Given the description of an element on the screen output the (x, y) to click on. 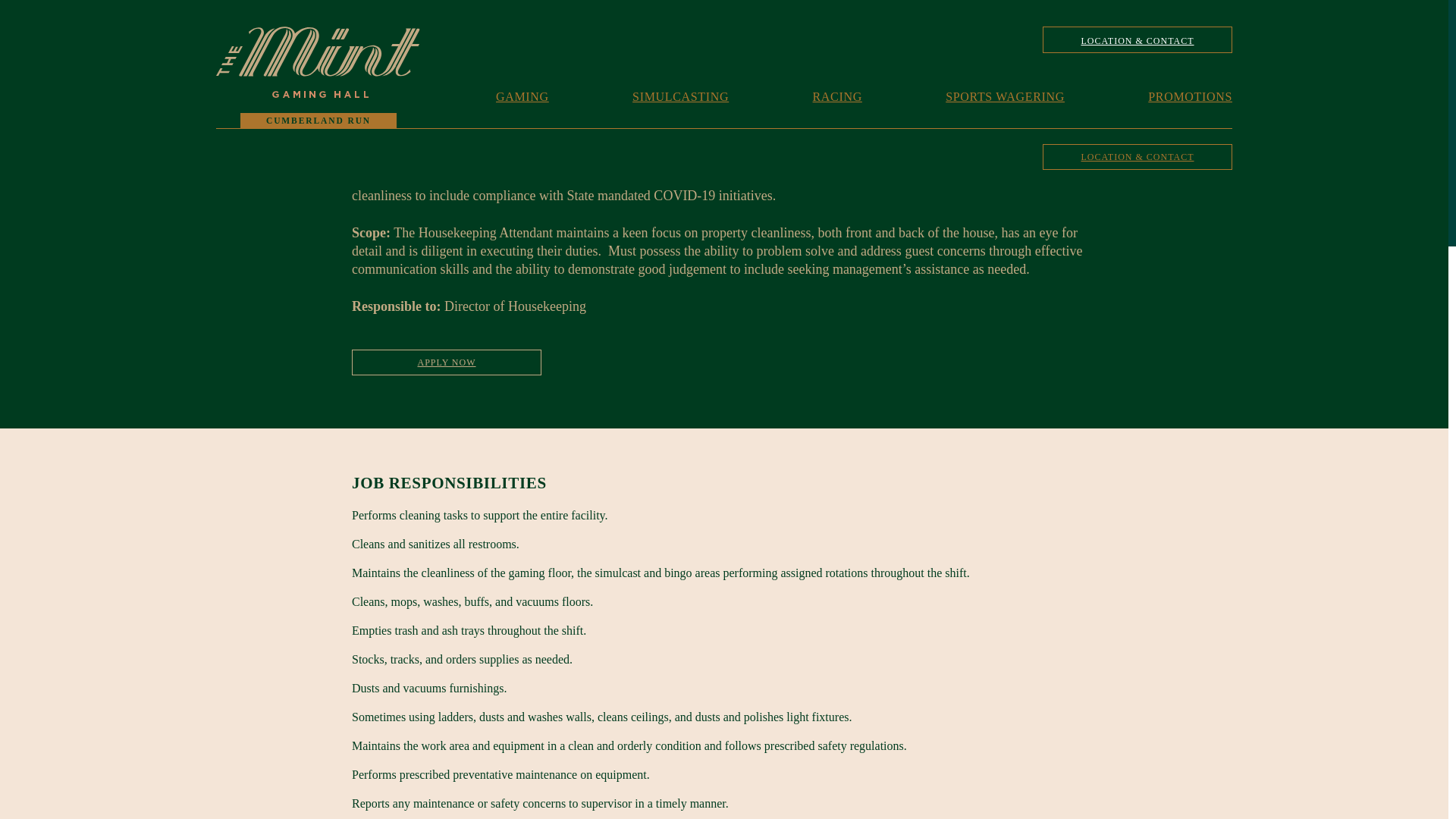
APPLY NOW (446, 362)
PROMOTIONS (1189, 98)
GAMING (522, 98)
SIMULCASTING (680, 98)
SPORTS WAGERING (1004, 98)
CUMBERLAND RUN (317, 90)
RACING (836, 98)
